Given the description of an element on the screen output the (x, y) to click on. 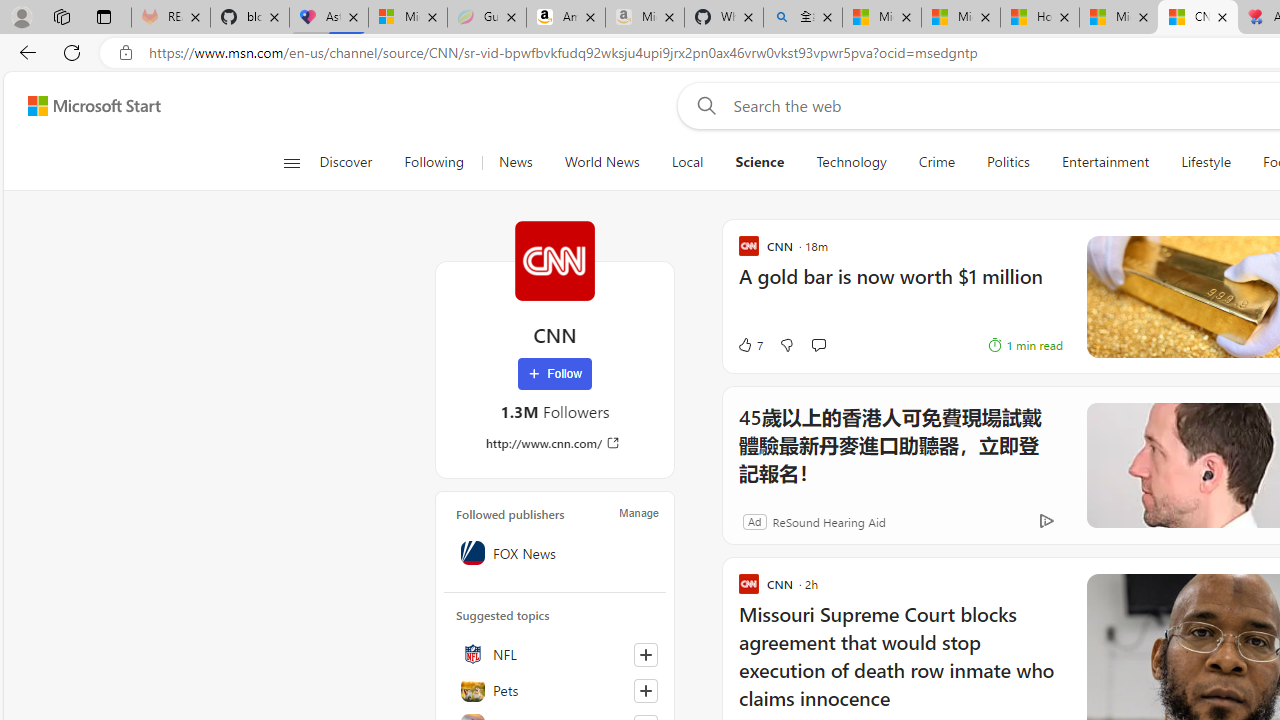
7 Like (749, 344)
